Given the description of an element on the screen output the (x, y) to click on. 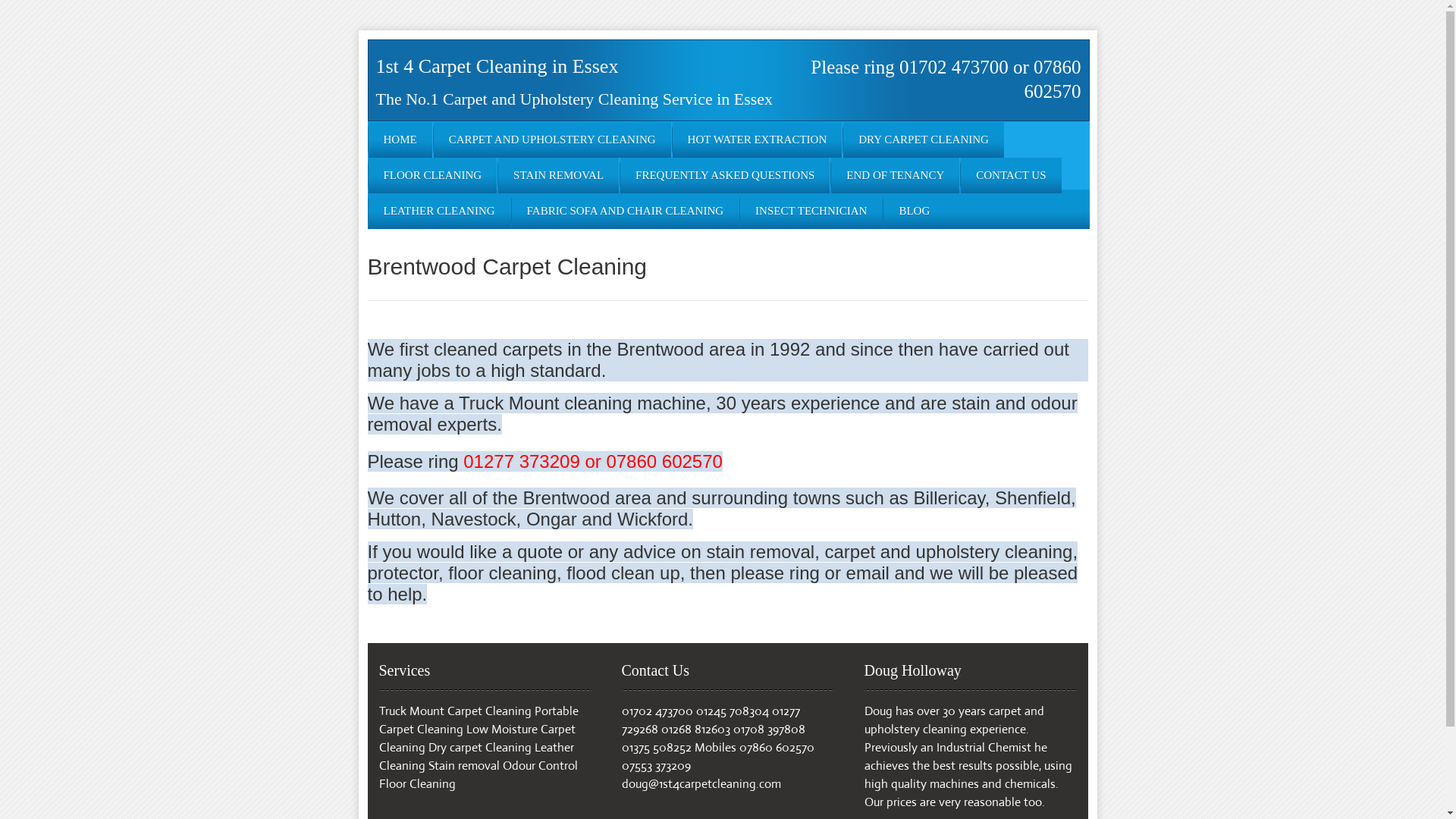
1st 4 Carpet Cleaning in Essex Element type: text (497, 66)
STAIN REMOVAL Element type: text (558, 175)
INSECT TECHNICIAN Element type: text (810, 211)
CONTACT US Element type: text (1010, 175)
DRY CARPET CLEANING Element type: text (923, 139)
END OF TENANCY Element type: text (895, 175)
HOME Element type: text (400, 139)
FREQUENTLY ASKED QUESTIONS Element type: text (724, 175)
CARPET AND UPHOLSTERY CLEANING Element type: text (552, 139)
LEATHER CLEANING Element type: text (439, 211)
BLOG Element type: text (913, 211)
FLOOR CLEANING Element type: text (432, 175)
FABRIC SOFA AND CHAIR CLEANING Element type: text (624, 211)
HOT WATER EXTRACTION Element type: text (757, 139)
Please ring 01702 473700 or 07860 602570 Element type: text (945, 78)
